Given the description of an element on the screen output the (x, y) to click on. 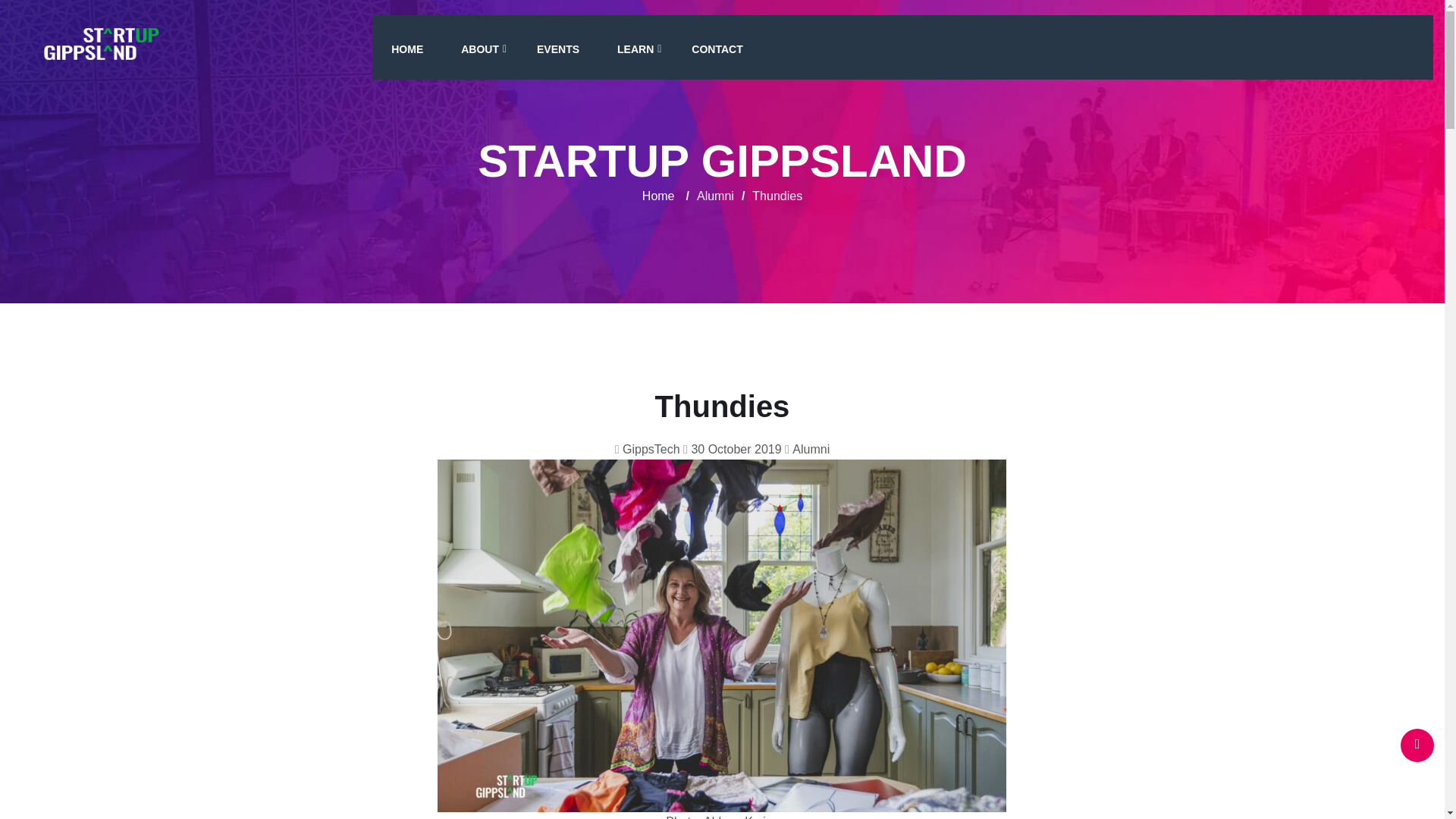
Home (658, 195)
CONTACT (716, 48)
Alumni (810, 449)
GippsTech (651, 449)
